Given the description of an element on the screen output the (x, y) to click on. 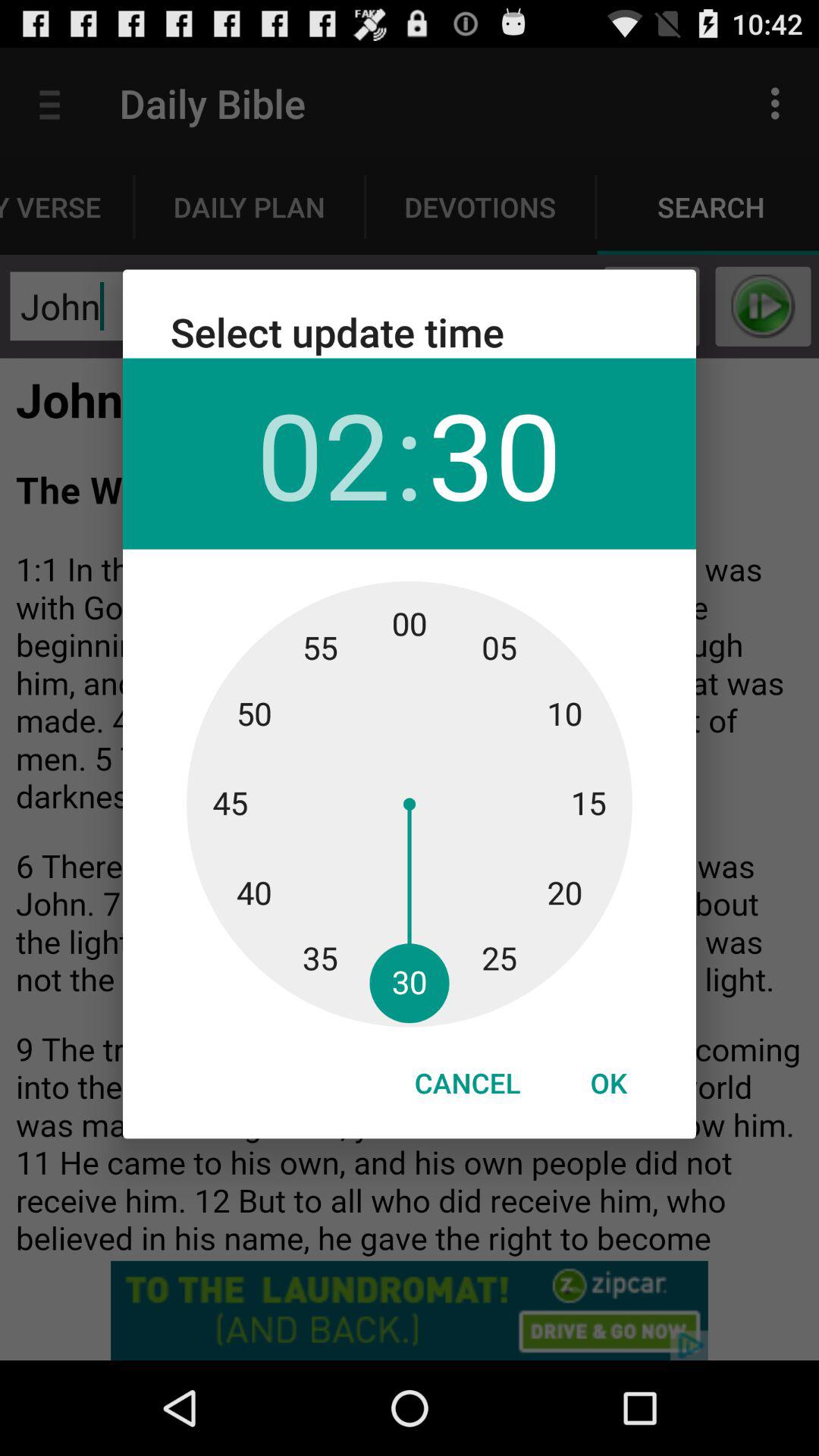
tap icon to the left of the : (323, 453)
